Given the description of an element on the screen output the (x, y) to click on. 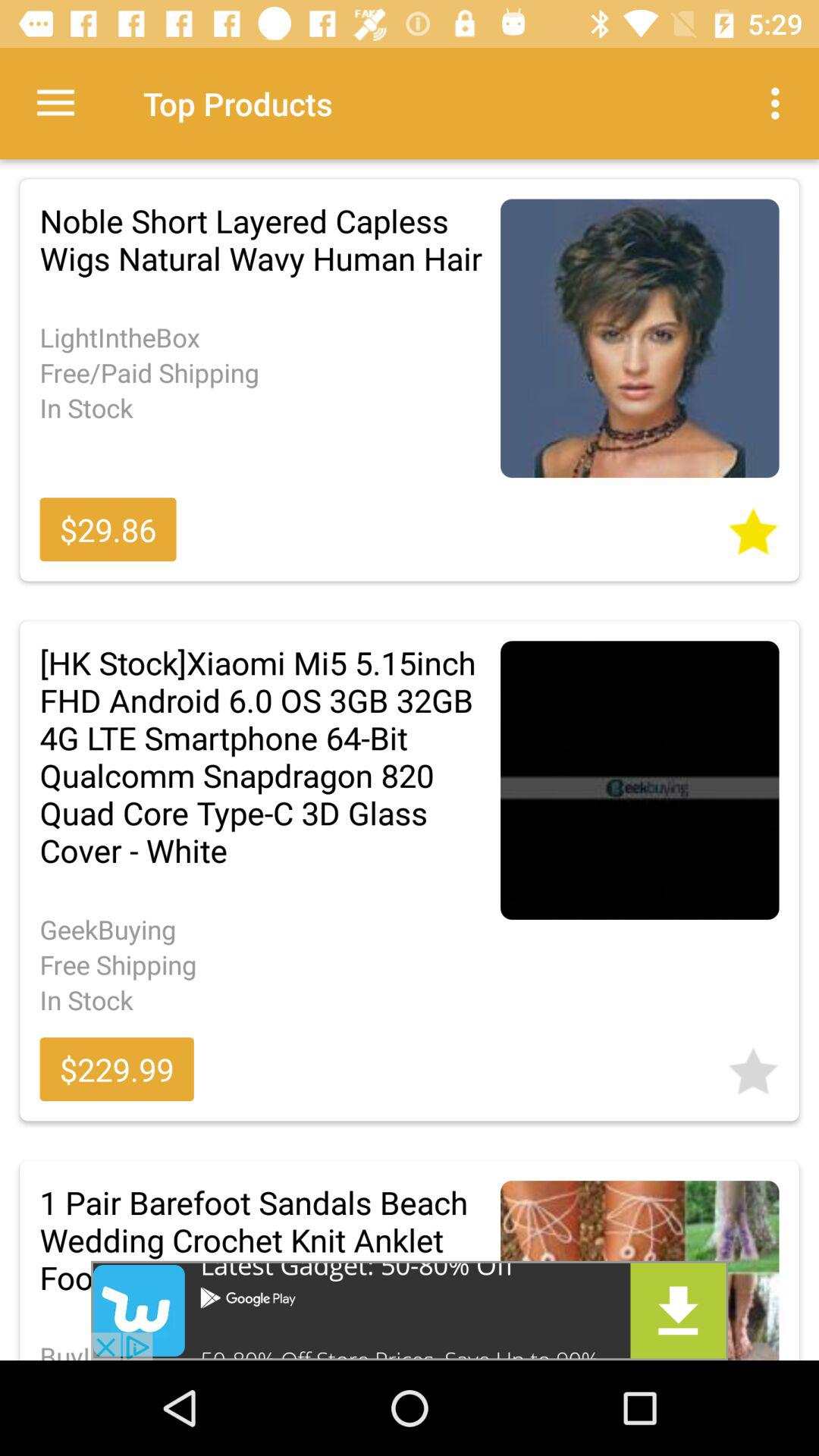
favourite the article (753, 526)
